Given the description of an element on the screen output the (x, y) to click on. 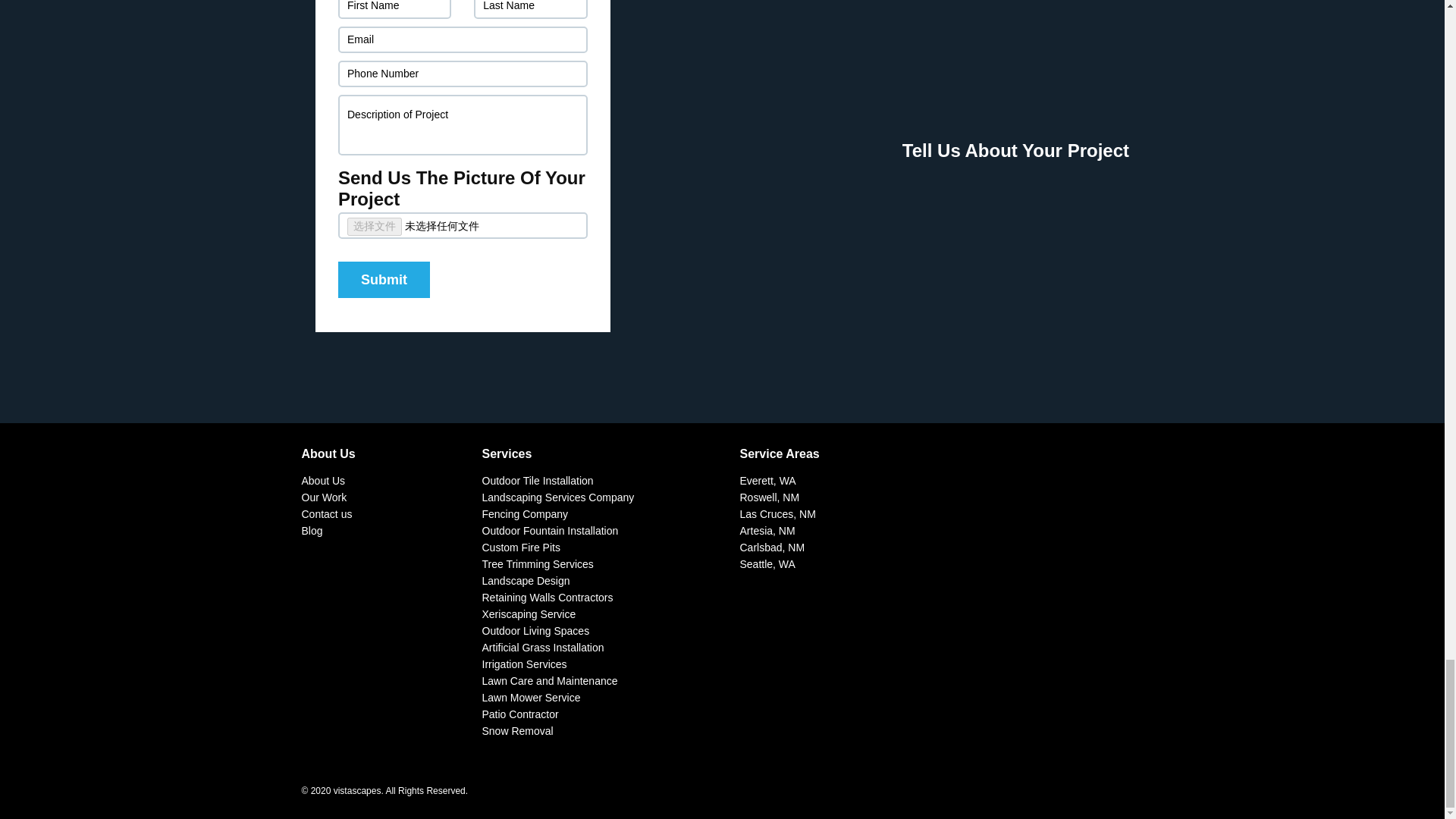
Phone Number (462, 73)
First Name (394, 9)
Email (462, 39)
Submit (383, 279)
Last Name (530, 9)
